Given the description of an element on the screen output the (x, y) to click on. 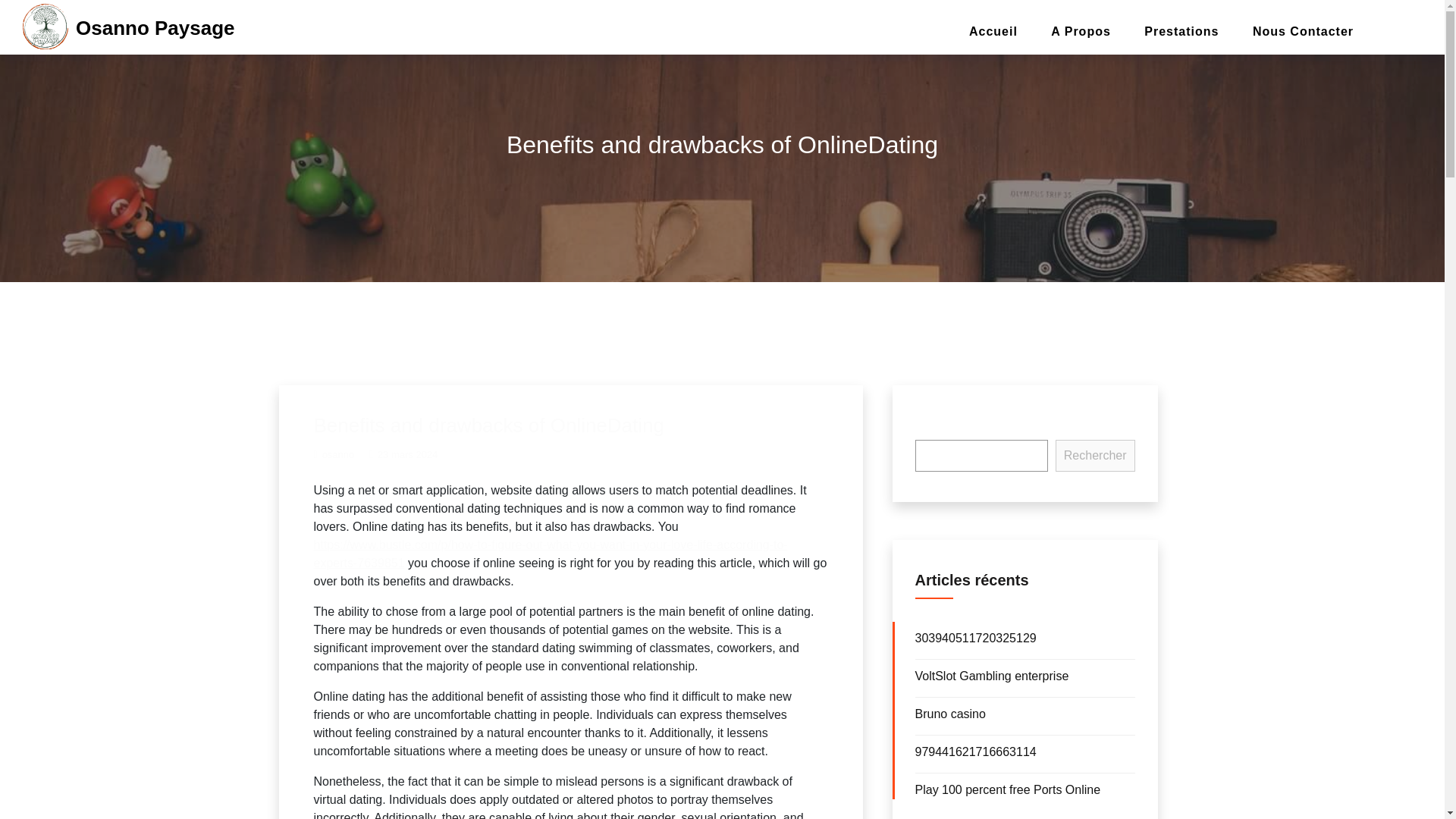
A Propos (1080, 31)
Benefits and drawbacks of OnlineDating (489, 425)
23 mars 2024 (403, 454)
Osanno Paysage (154, 27)
303940511720325129 (974, 637)
Nous Contacter (1302, 31)
Bruno casino (949, 713)
osanno (334, 454)
979441621716663114 (974, 751)
VoltSlot Gambling enterprise (991, 675)
Rechercher (1095, 455)
Accueil (992, 31)
Play 100 percent free Ports Online (1007, 789)
Prestations (1181, 31)
